Given the description of an element on the screen output the (x, y) to click on. 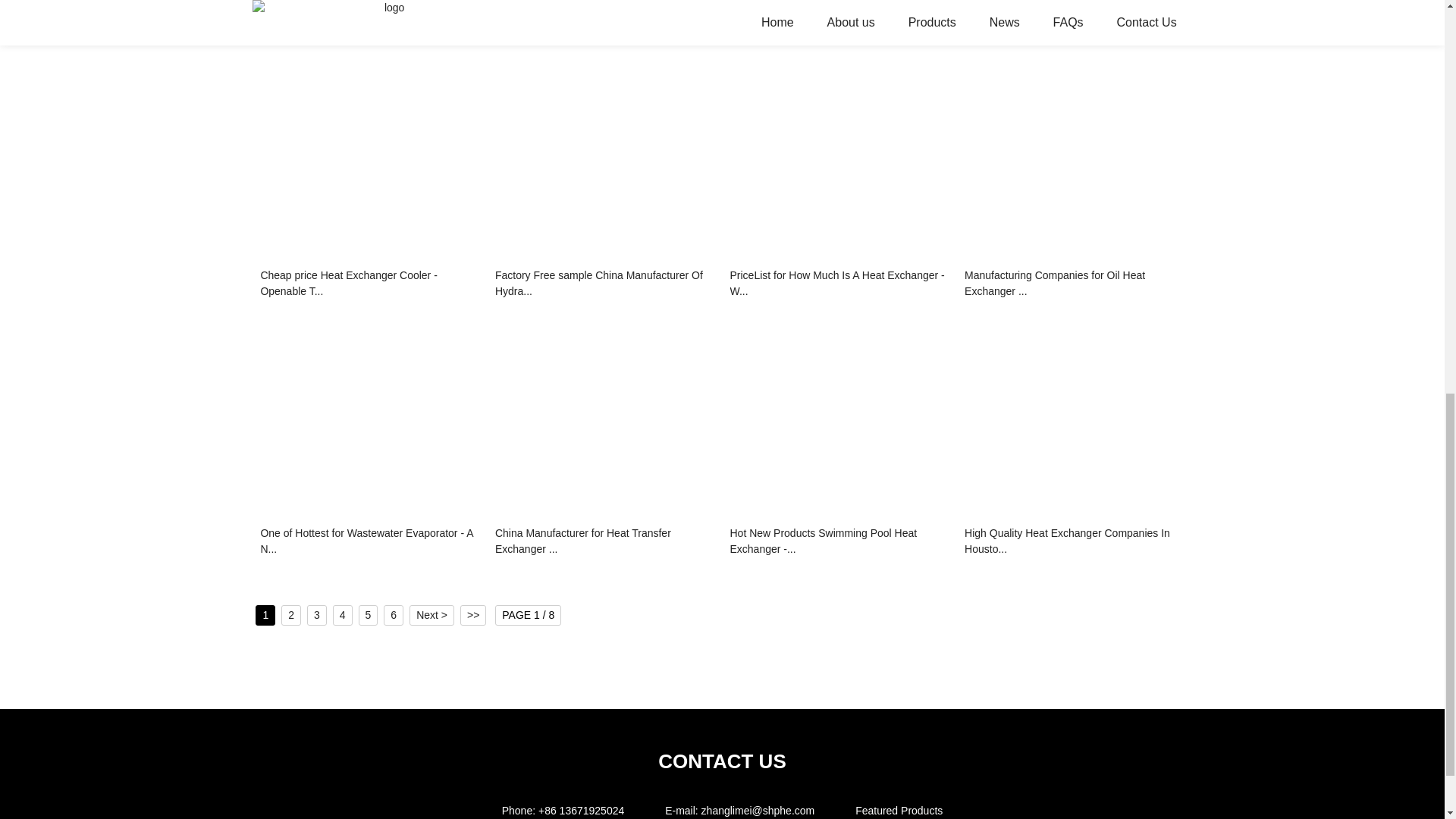
Cheap price Heat Exchanger Cooler - Openable T... (370, 284)
The Last Page (473, 615)
Factory wholesale Engine Oil Cooler - Plate ty... (1074, 26)
Factory Free sample China Manufacturer Of Hydra... (604, 284)
Discountable price Pillpw Plate - Bloc welded ... (604, 26)
Good Quality Welded Plate Heat Exchanger - Cro... (370, 26)
